Given the description of an element on the screen output the (x, y) to click on. 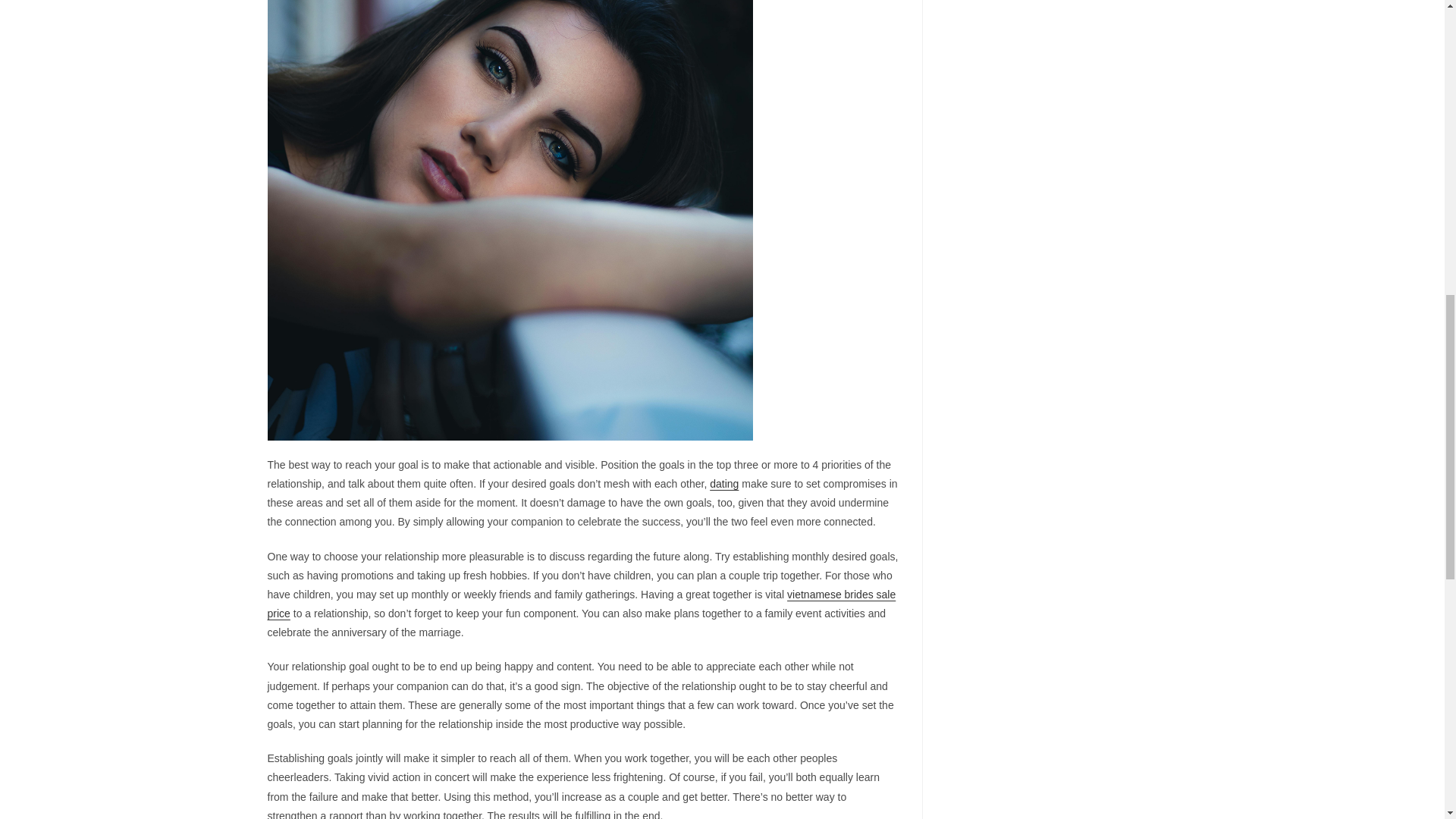
vietnamese brides sale price (580, 603)
dating (724, 483)
